Given the description of an element on the screen output the (x, y) to click on. 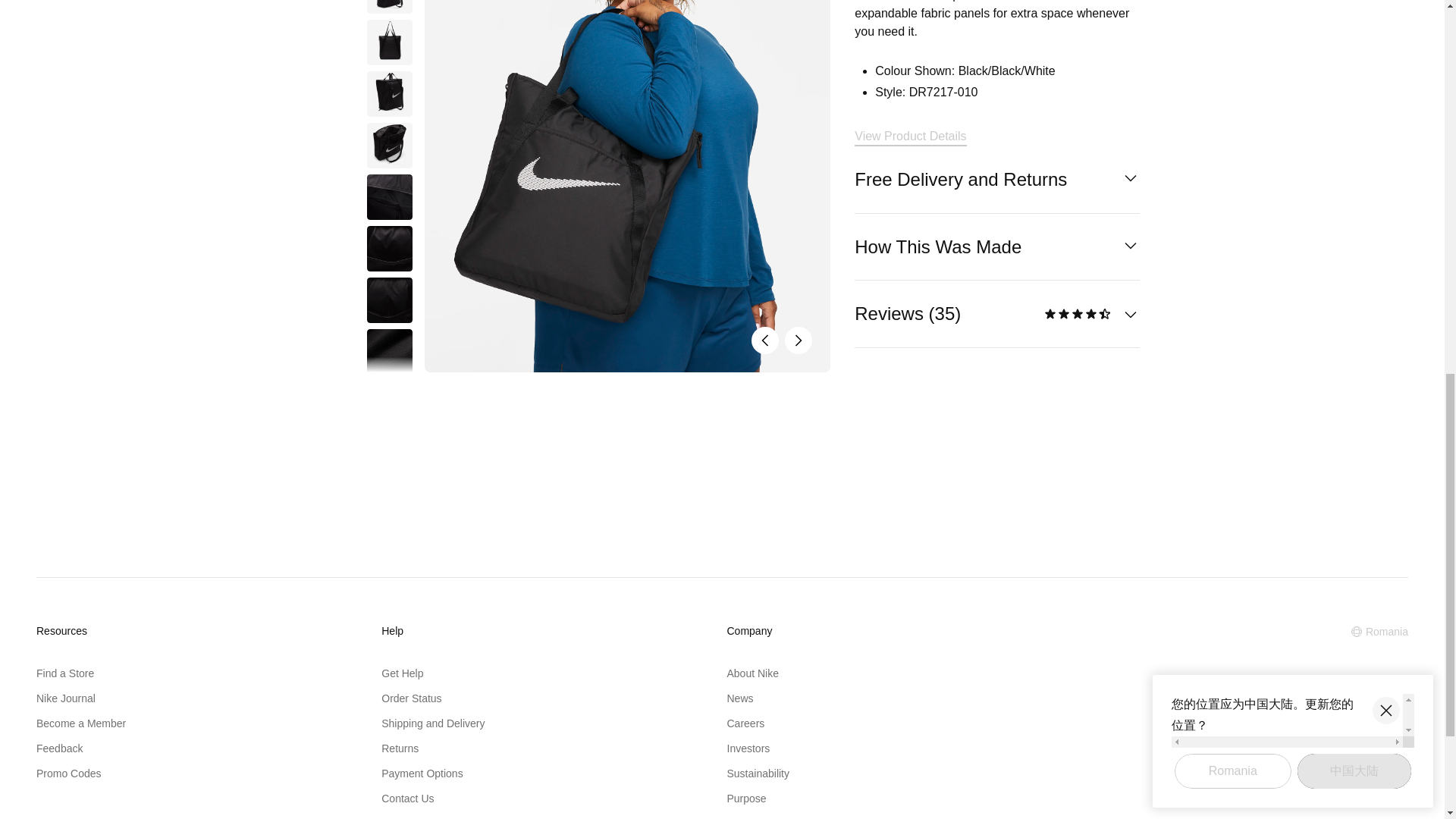
4.4 Stars (1077, 314)
Selected Location: Romania (1379, 631)
